Given the description of an element on the screen output the (x, y) to click on. 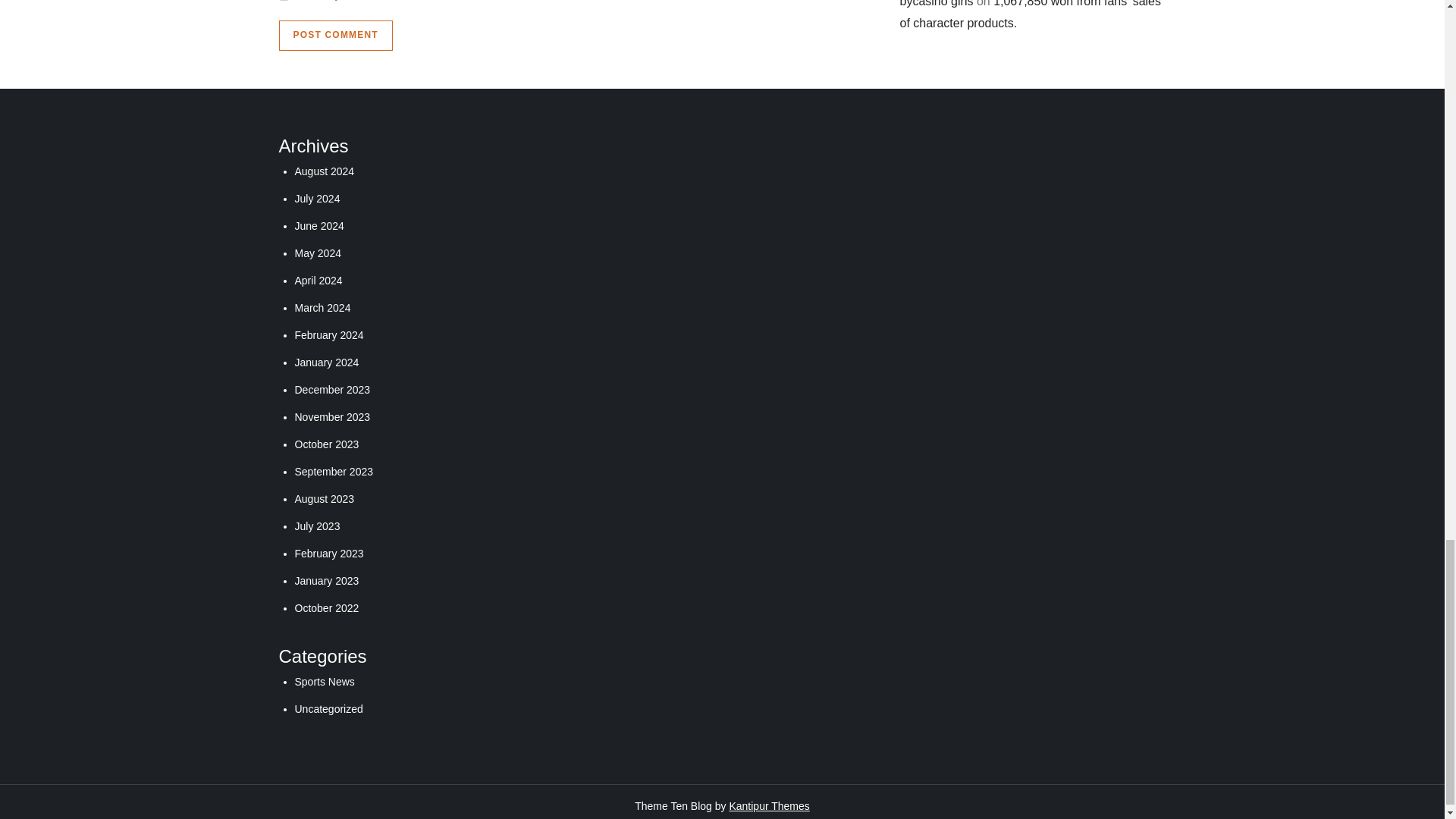
November 2023 (331, 417)
May 2024 (317, 253)
March 2024 (322, 307)
Post Comment (336, 35)
December 2023 (331, 389)
April 2024 (318, 280)
Post Comment (336, 35)
October 2023 (326, 444)
February 2024 (328, 335)
